Given the description of an element on the screen output the (x, y) to click on. 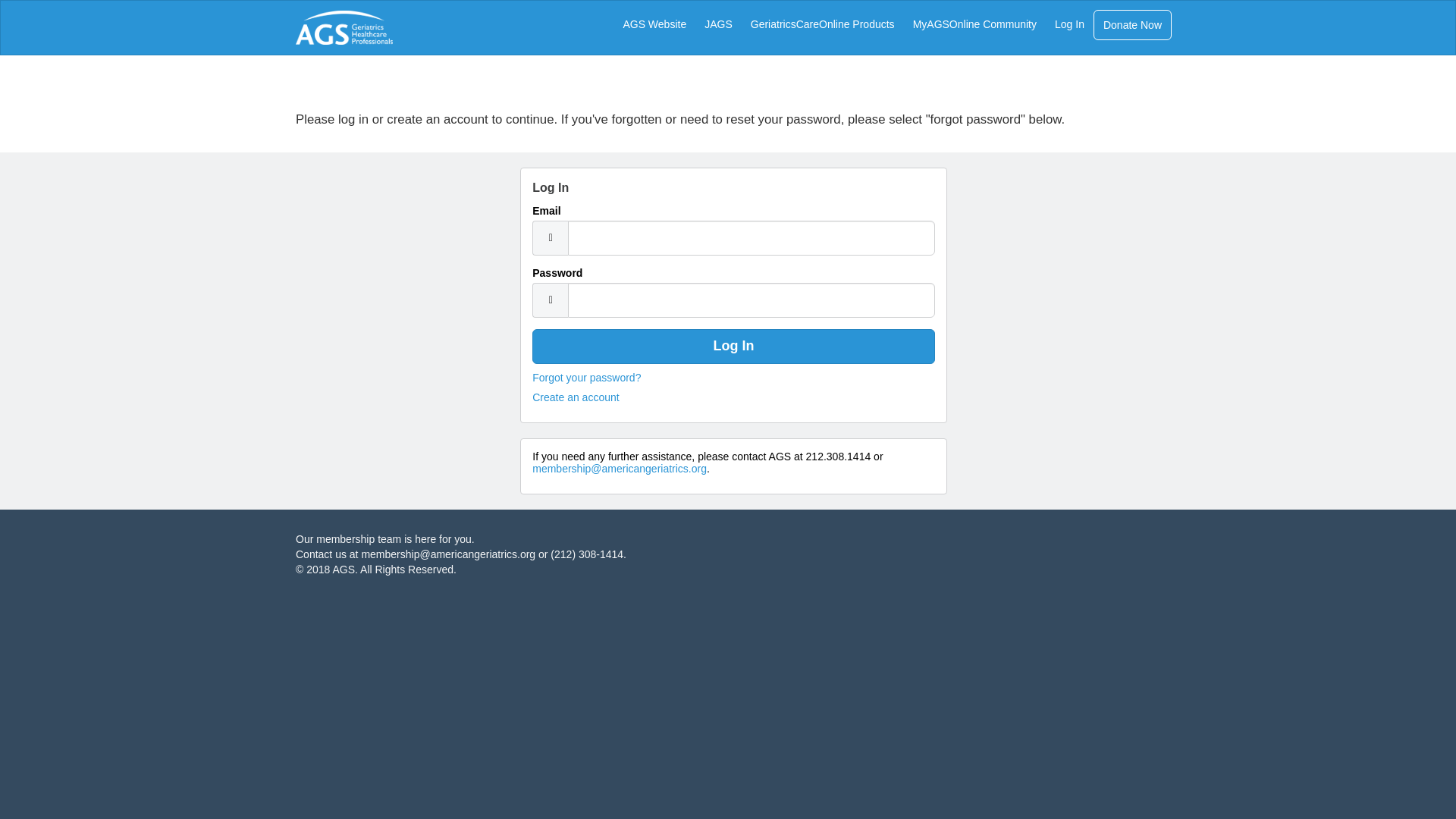
Log In (733, 346)
MyAGSOnline Community (974, 24)
Donate Now (1132, 24)
Create an account (575, 397)
JAGS (718, 24)
Forgot your password? (586, 377)
Log In (1069, 24)
AGS Website (653, 24)
GeriatricsCareOnline Products (822, 24)
Log In (733, 346)
